Given the description of an element on the screen output the (x, y) to click on. 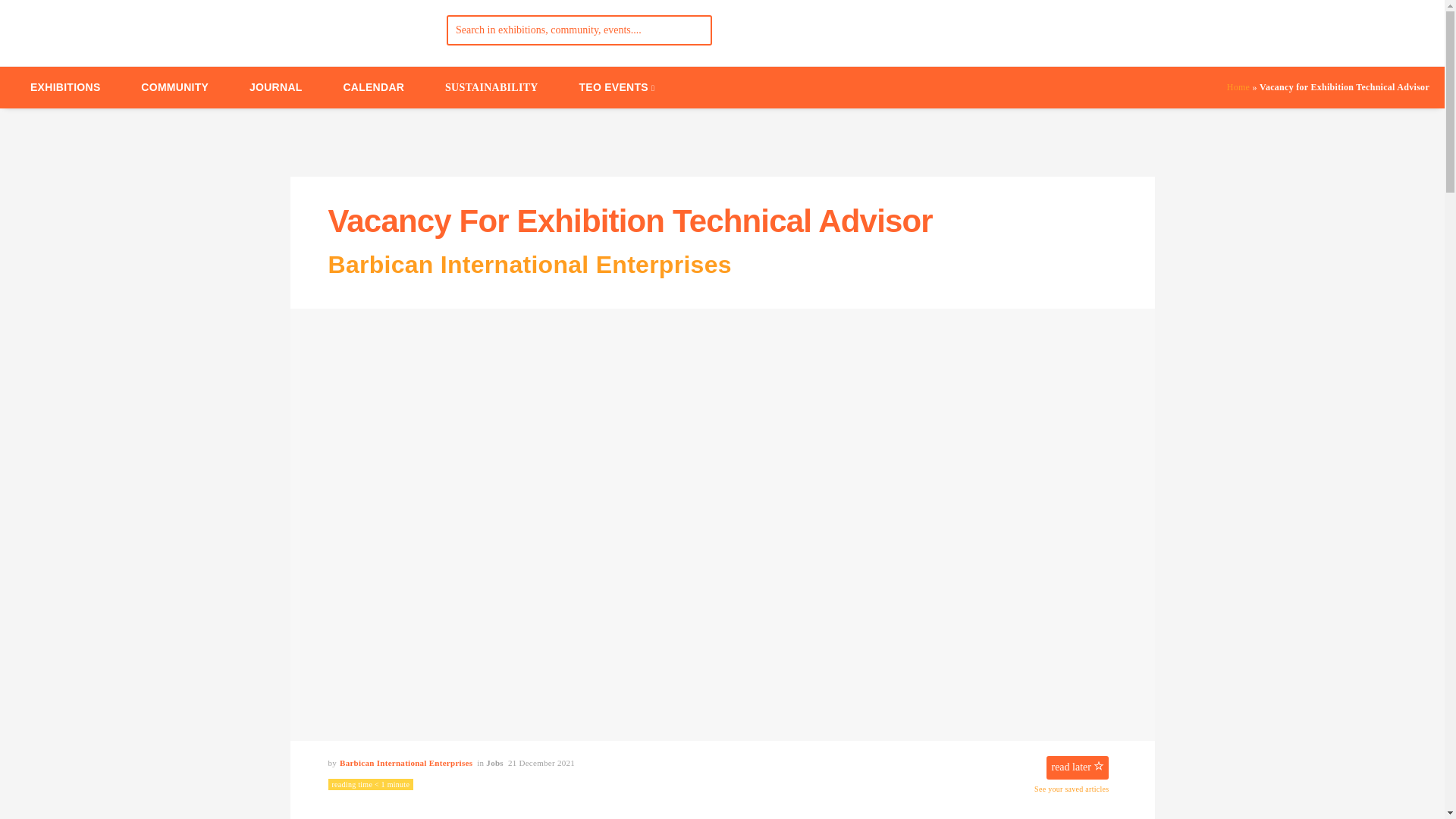
EXHIBITIONS (65, 87)
COMMUNITY (174, 87)
See your saved articles (1070, 787)
Jobs (494, 762)
read later (1077, 767)
Home (1238, 86)
SUSTAINABILITY (491, 87)
Barbican International Enterprises (403, 762)
JOURNAL (275, 87)
21 December 2021 (541, 762)
CALENDAR (373, 87)
search anything (578, 30)
TEO EVENTS (616, 87)
